Given the description of an element on the screen output the (x, y) to click on. 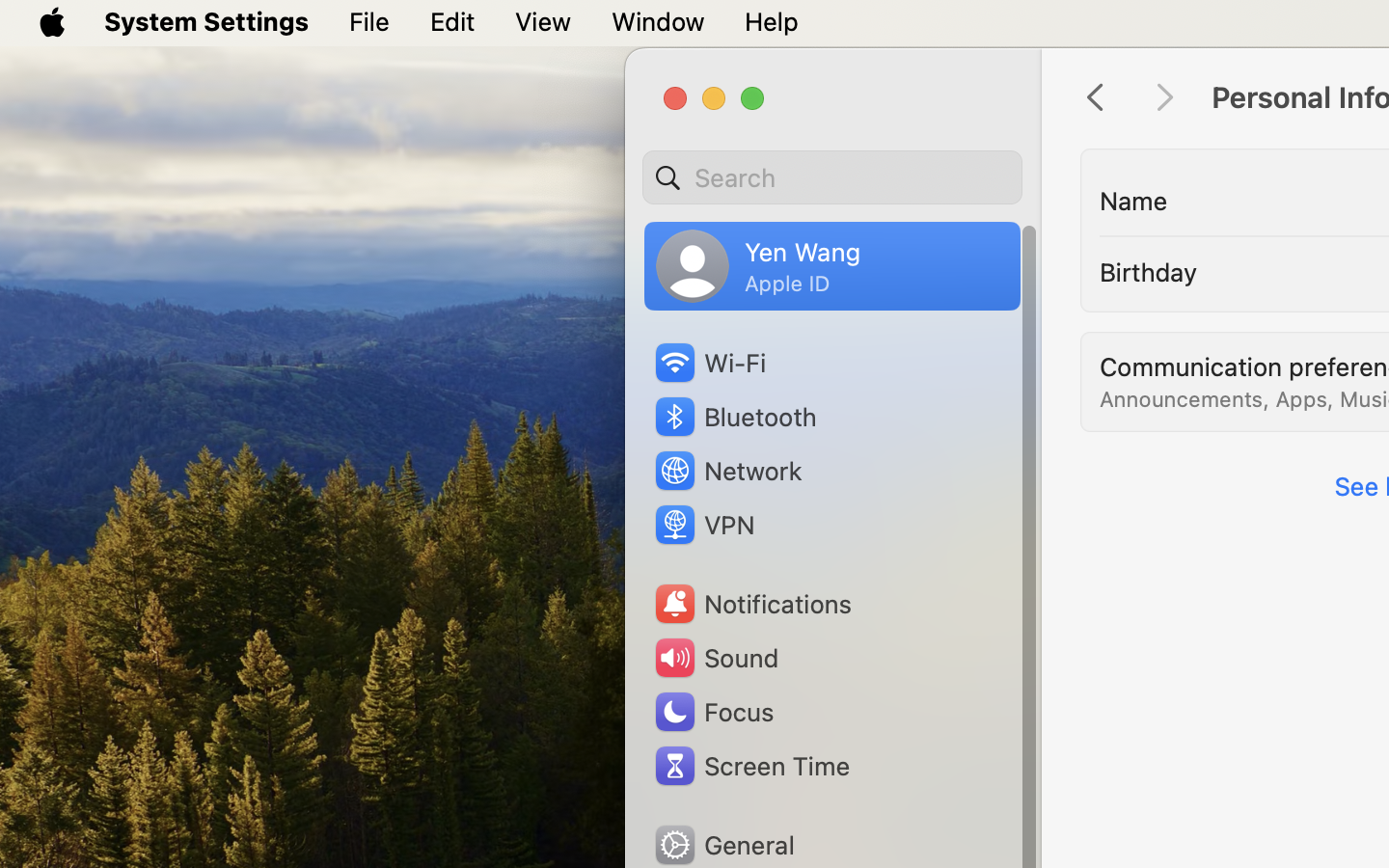
Screen Time Element type: AXStaticText (751, 765)
